Given the description of an element on the screen output the (x, y) to click on. 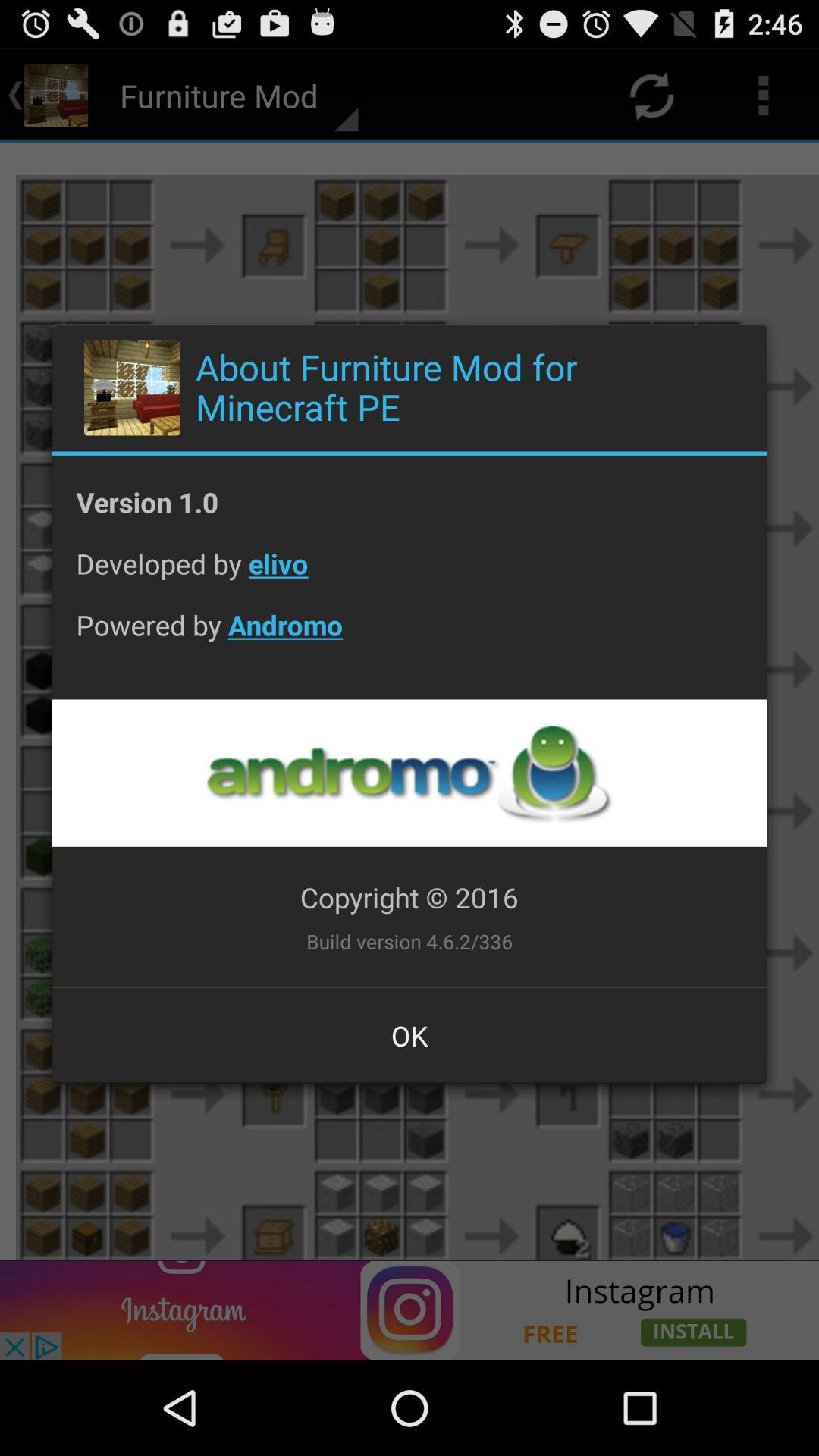
link to app (408, 772)
